Given the description of an element on the screen output the (x, y) to click on. 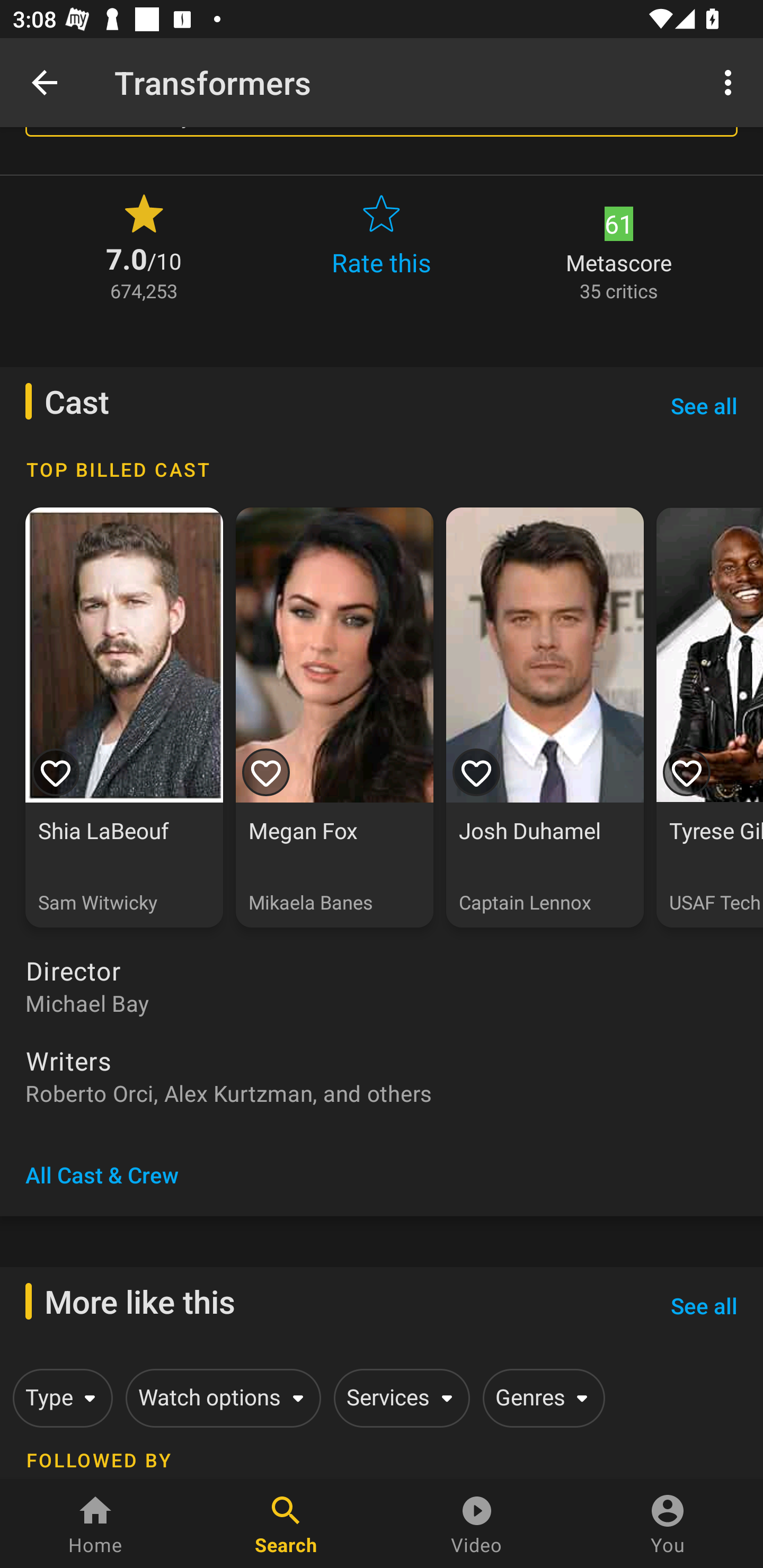
More options (731, 81)
7.0 /10 674,253 (143, 246)
Rate this (381, 246)
61 Metascore 35 critics (618, 246)
See all See all Cast (703, 404)
Shia LaBeouf Sam Witwicky (123, 718)
Megan Fox Mikaela Banes (334, 718)
Josh Duhamel Captain Lennox (544, 718)
Tyrese Gibson USAF Tech Sergeant Epps (709, 718)
Michael Bay (381, 1002)
Roberto Orci, Alex Kurtzman, and others (381, 1093)
All Cast & Crew (101, 1175)
See all See all More like this (703, 1304)
Type (59, 1397)
Watch options (219, 1397)
Services (398, 1397)
Genres (540, 1397)
Home (95, 1523)
Video (476, 1523)
You (667, 1523)
